Given the description of an element on the screen output the (x, y) to click on. 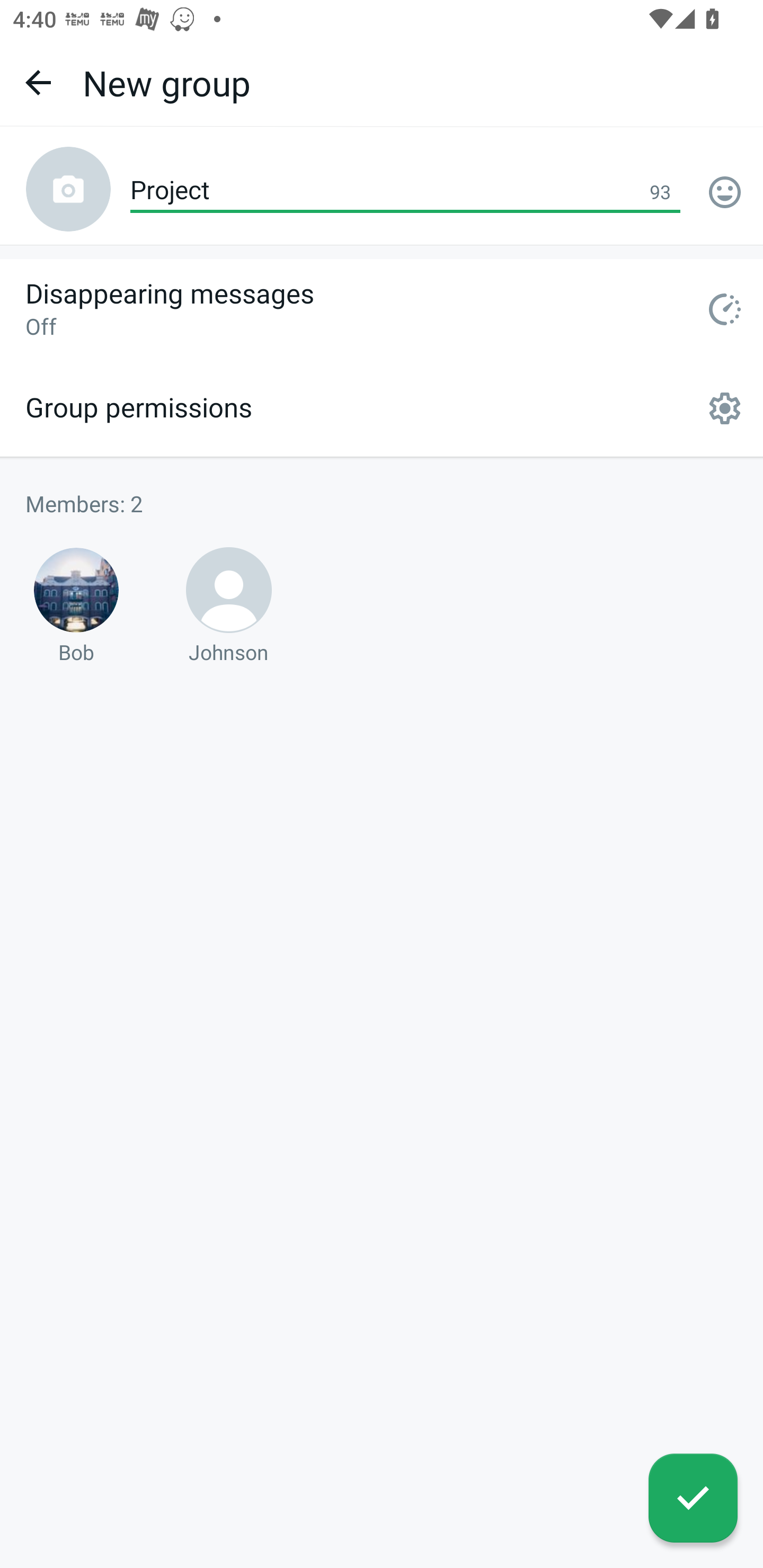
Navigate up (38, 82)
Group icon (68, 188)
Emoji (724, 191)
Project (404, 190)
Disappearing messages Off (381, 309)
Group permissions (381, 408)
Create (692, 1497)
